Given the description of an element on the screen output the (x, y) to click on. 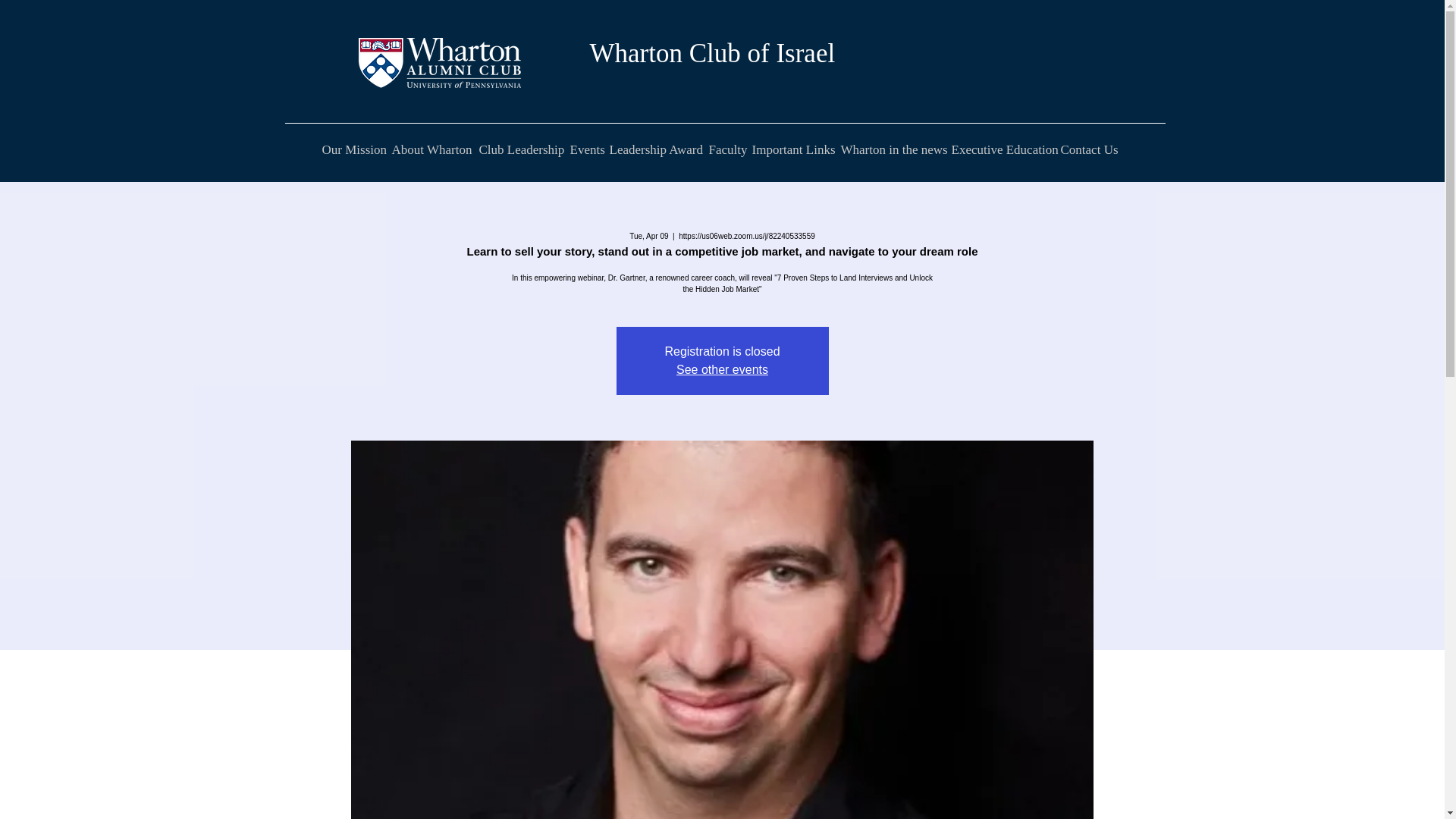
Club Leadership (521, 149)
Executive Education (1002, 149)
Contact Us (1087, 149)
Important Links (793, 149)
See other events (722, 369)
About Wharton (432, 149)
Events (587, 149)
Leadership Award (656, 149)
Our Mission (352, 149)
Wharton in the news (892, 149)
